Given the description of an element on the screen output the (x, y) to click on. 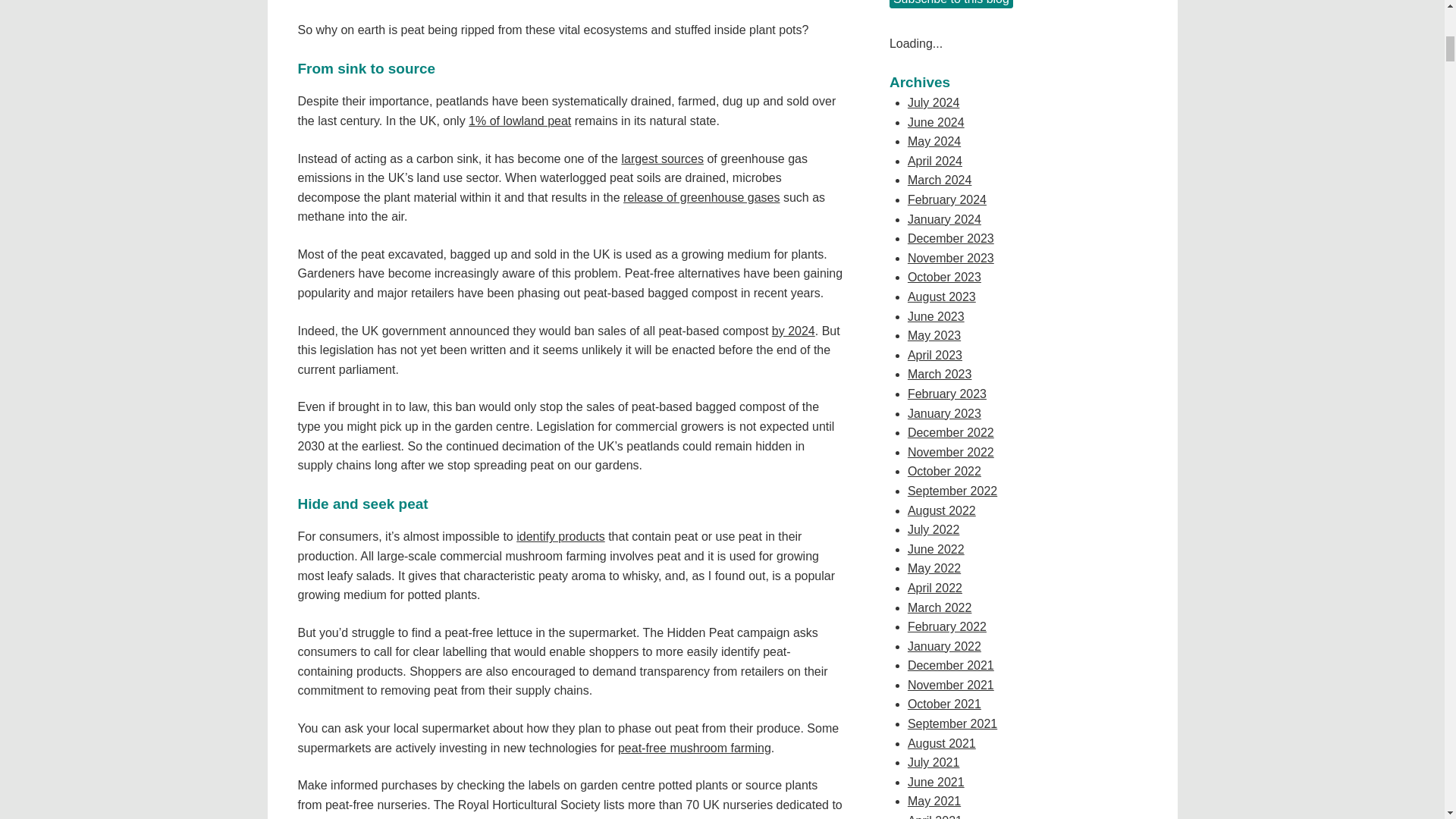
largest sources (662, 158)
Subscribe to this blog (951, 4)
release of greenhouse gases (700, 196)
peat-free mushroom farming (694, 748)
by 2024 (793, 330)
peat-free growing (344, 818)
identify products (560, 535)
